Given the description of an element on the screen output the (x, y) to click on. 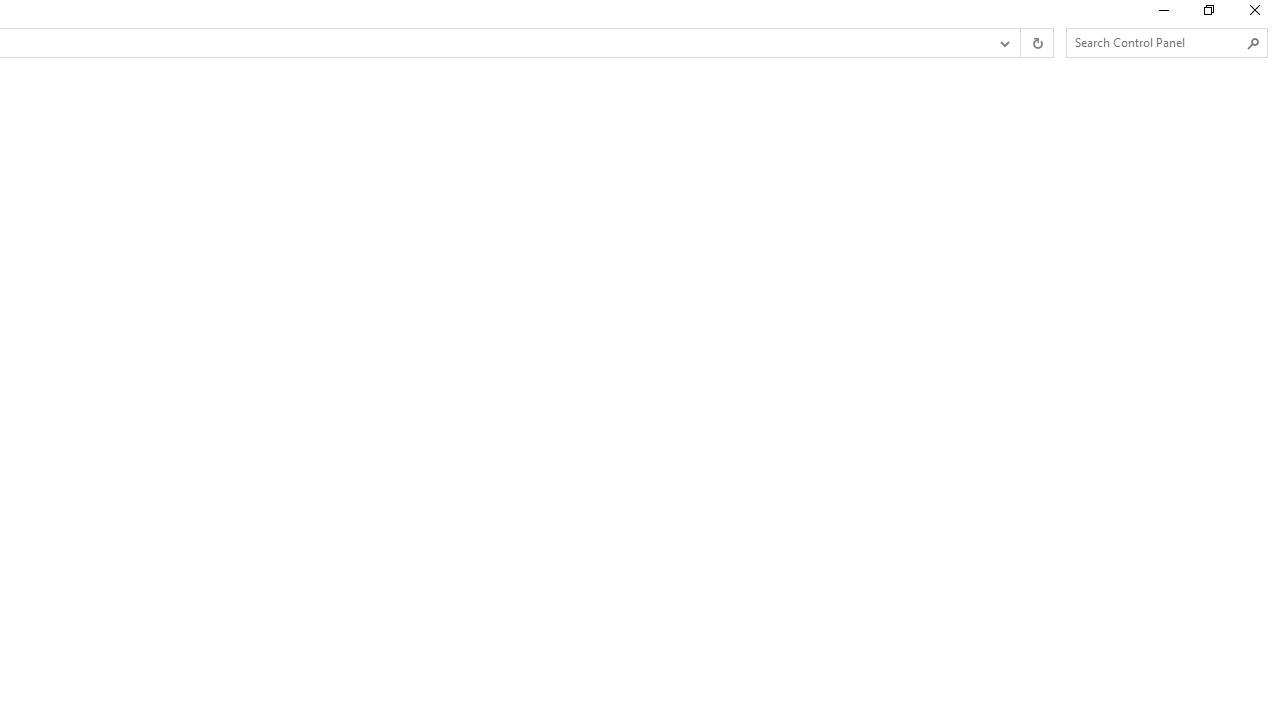
Search Box (1156, 42)
Address band toolbar (1019, 43)
Minimize (1162, 14)
Refresh "Hardware and Sound" (F5) (1036, 43)
Restore (1208, 14)
Search (1253, 43)
Previous Locations (1003, 43)
